Given the description of an element on the screen output the (x, y) to click on. 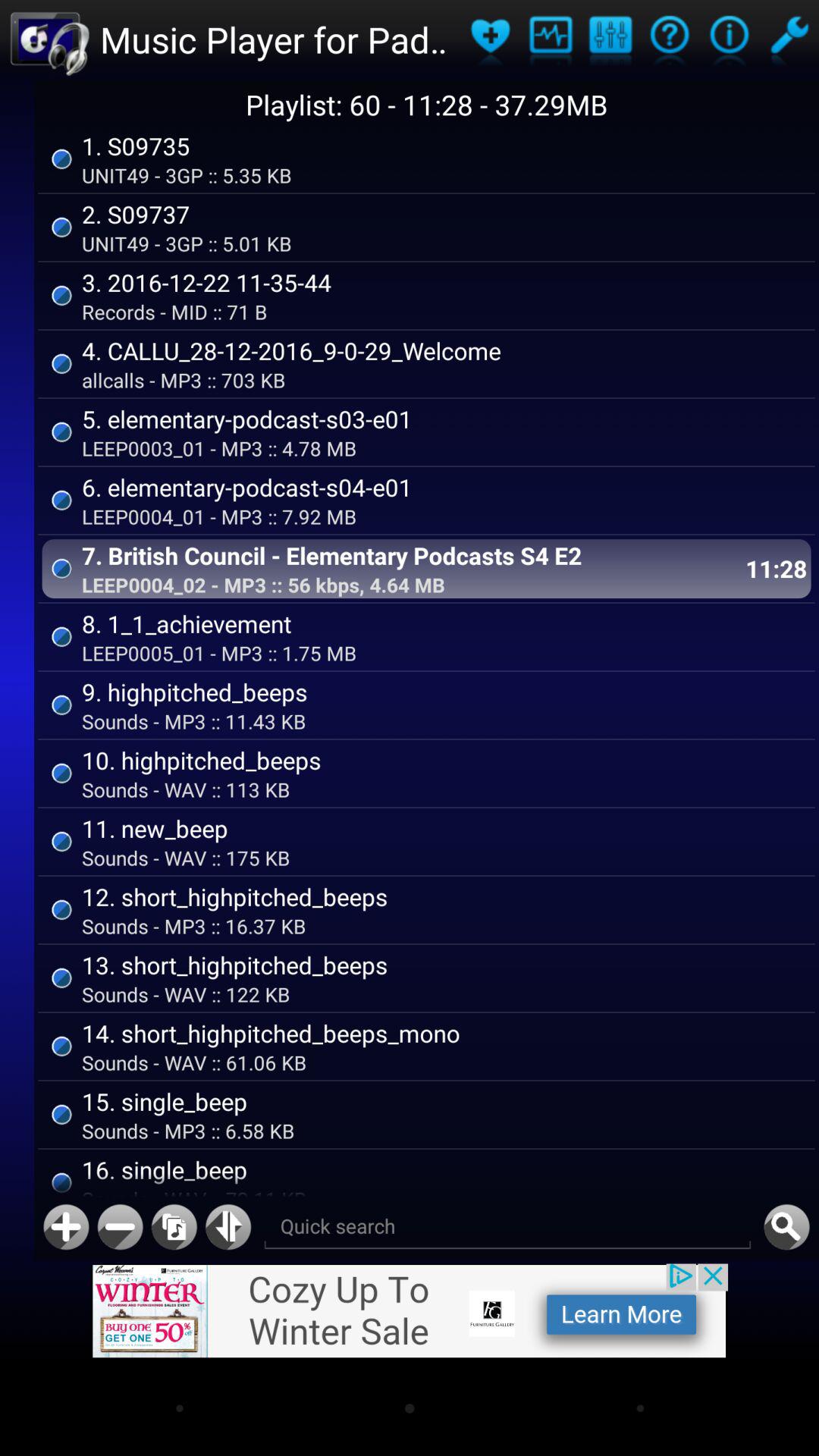
search play list (507, 1226)
